Given the description of an element on the screen output the (x, y) to click on. 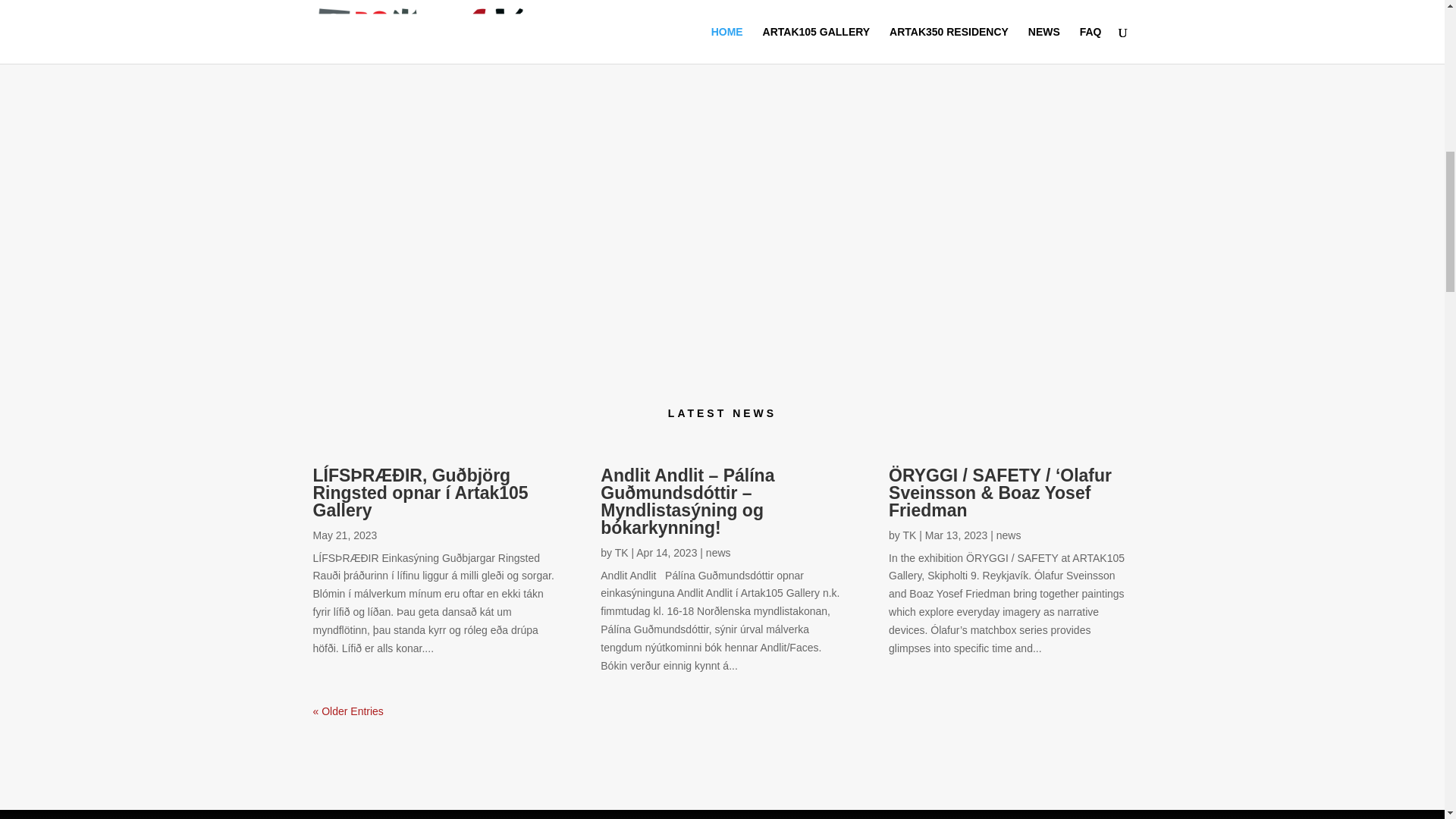
Posts by TK (621, 552)
news (718, 552)
Posts by TK (908, 535)
news (1008, 535)
TK (908, 535)
TK (621, 552)
